Given the description of an element on the screen output the (x, y) to click on. 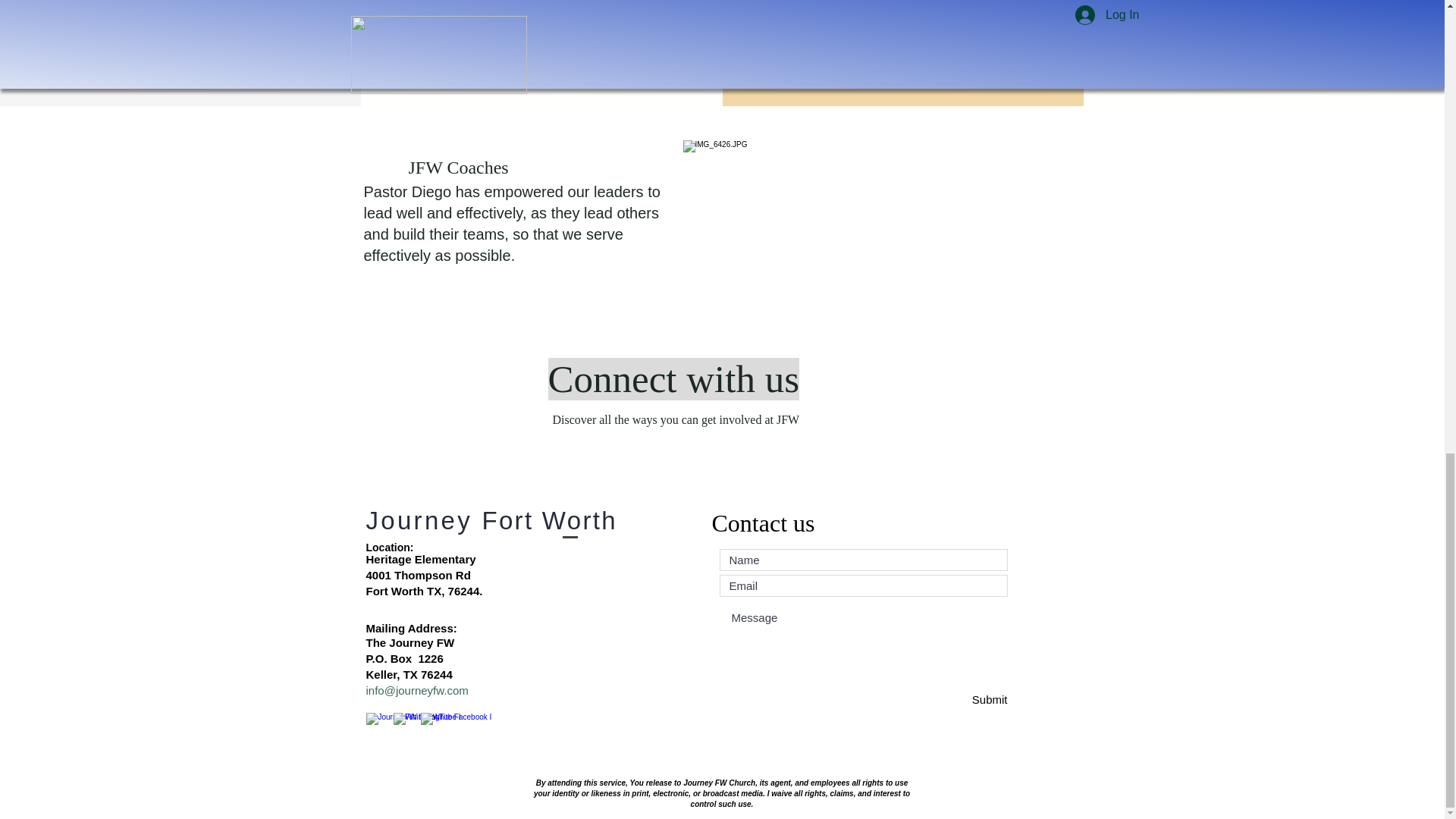
Learn More (1262, 15)
Learn More (540, 35)
Submit (953, 699)
